Given the description of an element on the screen output the (x, y) to click on. 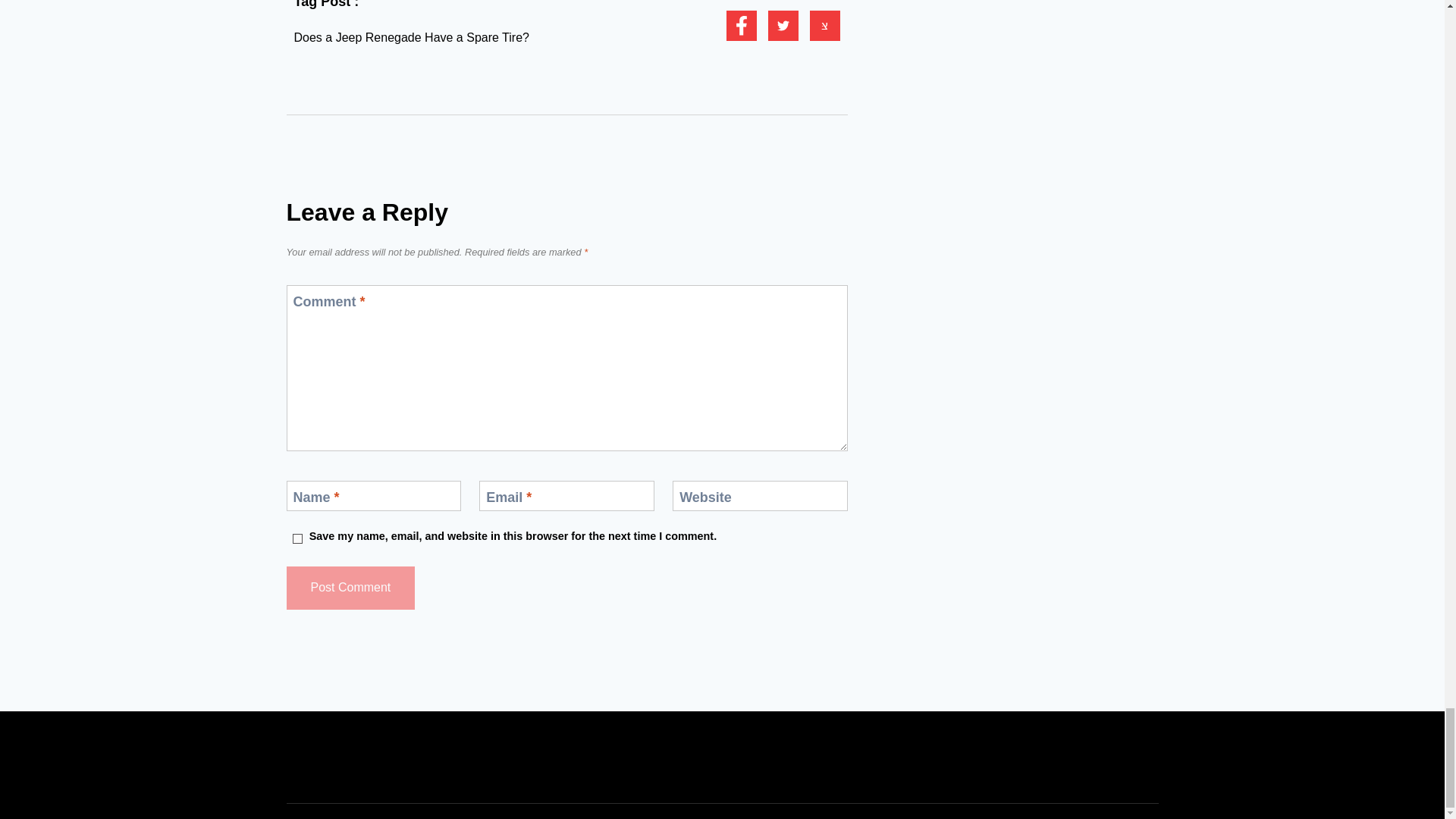
Post Comment (350, 587)
Post Comment (350, 587)
